Given the description of an element on the screen output the (x, y) to click on. 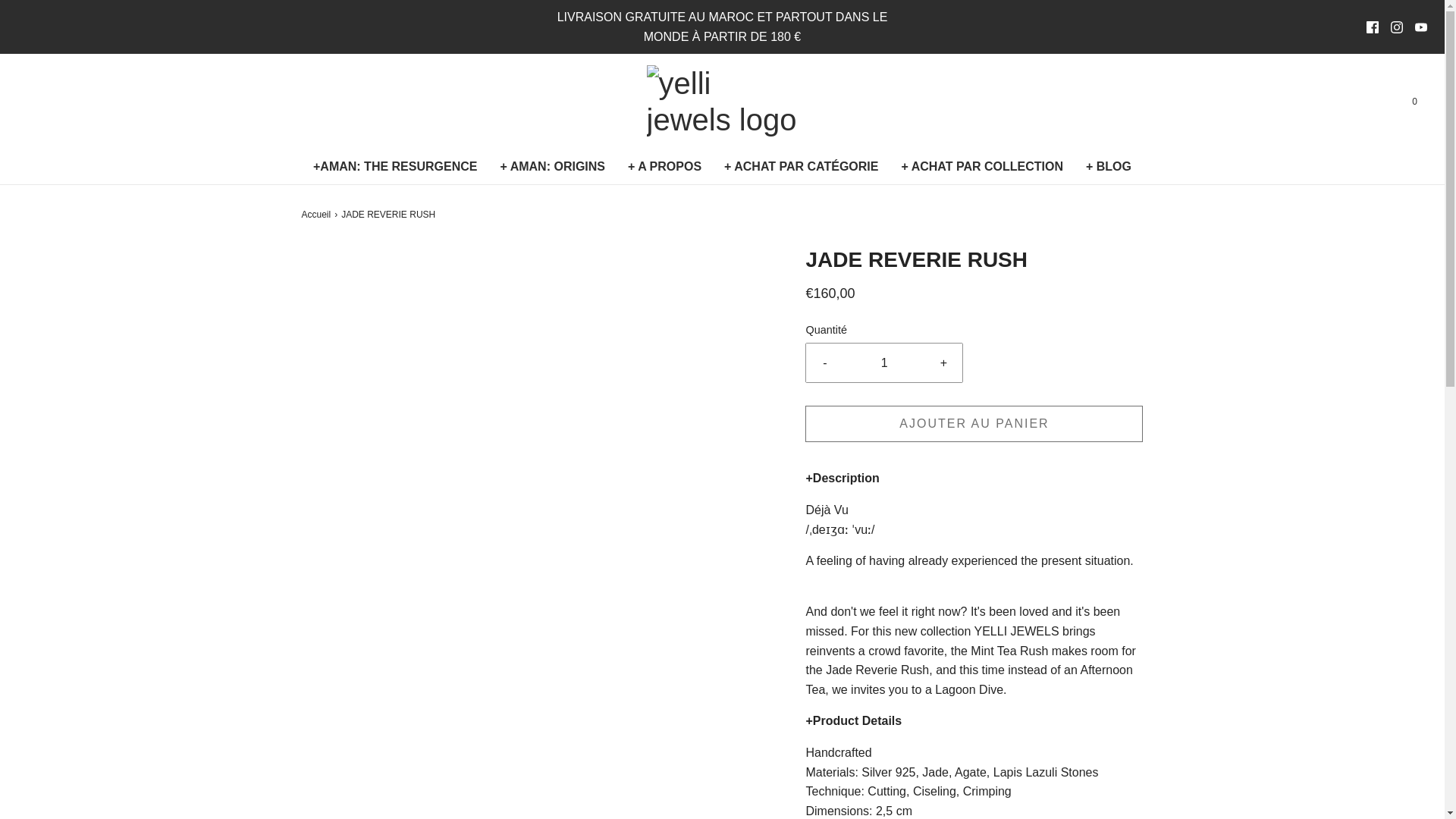
Votre panier (1413, 101)
Facebook icon (1372, 27)
Instagram icon (1396, 27)
1 (884, 363)
Instagram icon (1396, 27)
Facebook icon (1372, 27)
YouTube icon (1420, 27)
YouTube icon (1420, 27)
